Given the description of an element on the screen output the (x, y) to click on. 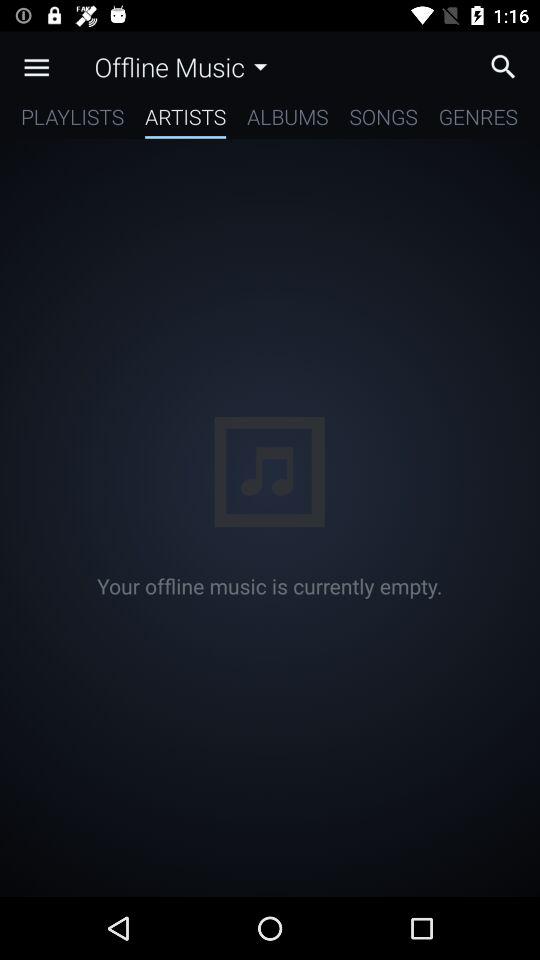
tap the icon next to the albums icon (383, 120)
